Given the description of an element on the screen output the (x, y) to click on. 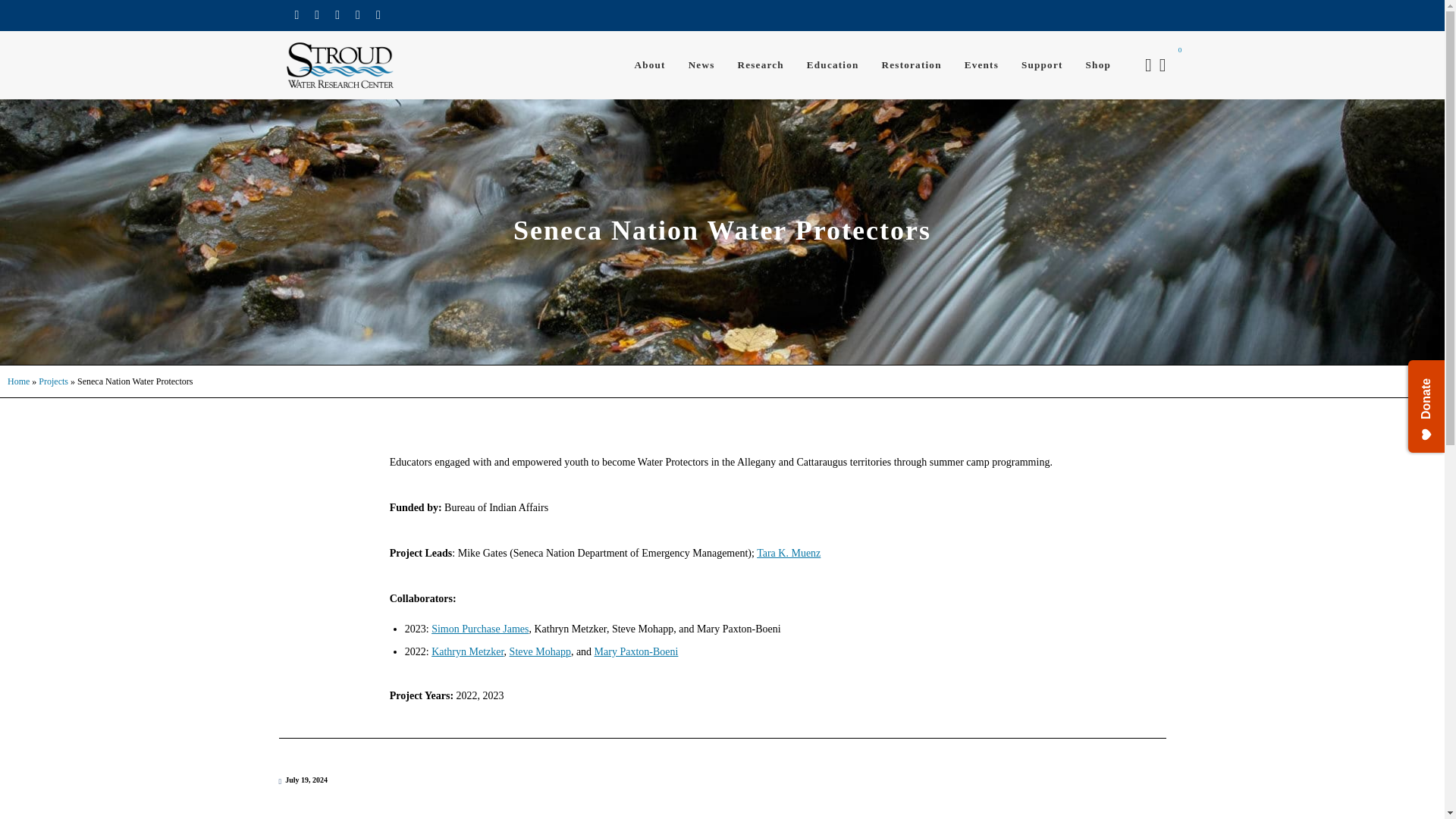
Projects (53, 380)
Tara K. Muenz (789, 552)
Kathryn Metzker (466, 651)
Simon Purchase James (479, 628)
Stroud Water Research Center (340, 65)
Home (18, 380)
